Given the description of an element on the screen output the (x, y) to click on. 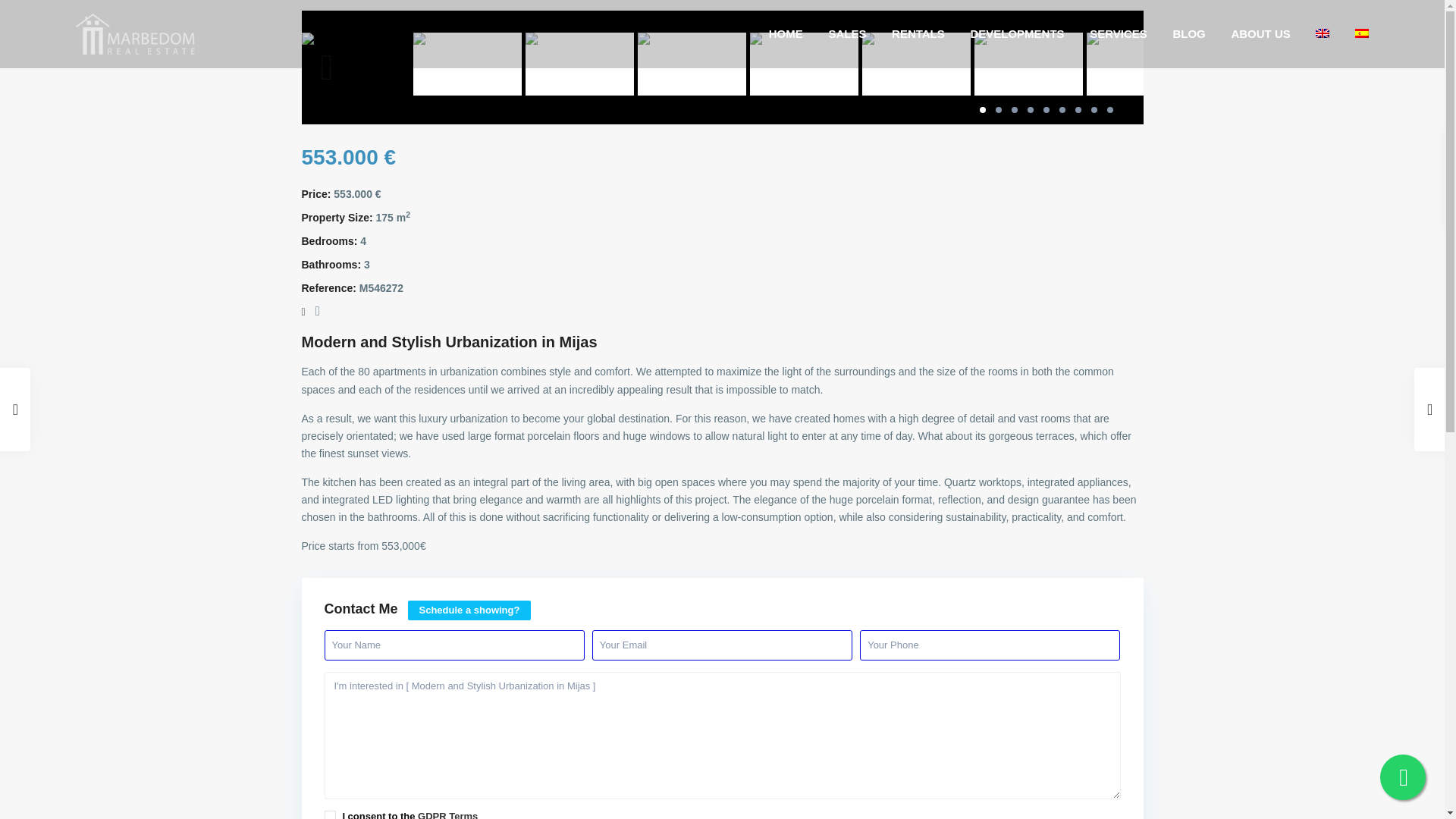
RENTALS (918, 33)
New developments  (1016, 33)
on (330, 814)
Rentals in Marbella (918, 33)
